Given the description of an element on the screen output the (x, y) to click on. 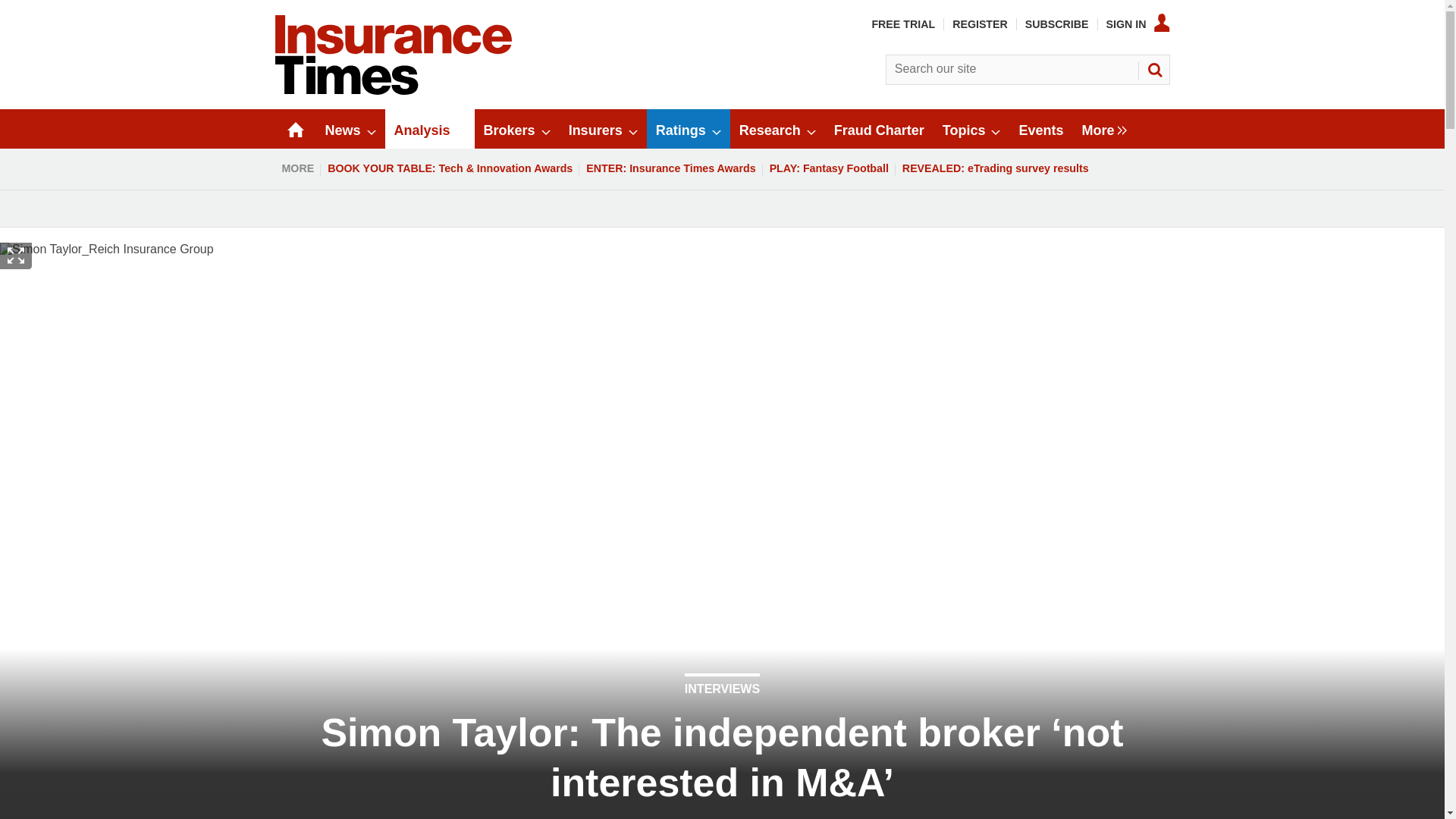
ENTER: Insurance Times Awards (670, 168)
Insert Logo text (393, 90)
SIGN IN (1138, 24)
REGISTER (979, 24)
SUBSCRIBE (1057, 24)
FREE TRIAL (902, 24)
SEARCH (1153, 69)
REVEALED: eTrading survey results (995, 168)
PLAY: Fantasy Football (828, 168)
